Given the description of an element on the screen output the (x, y) to click on. 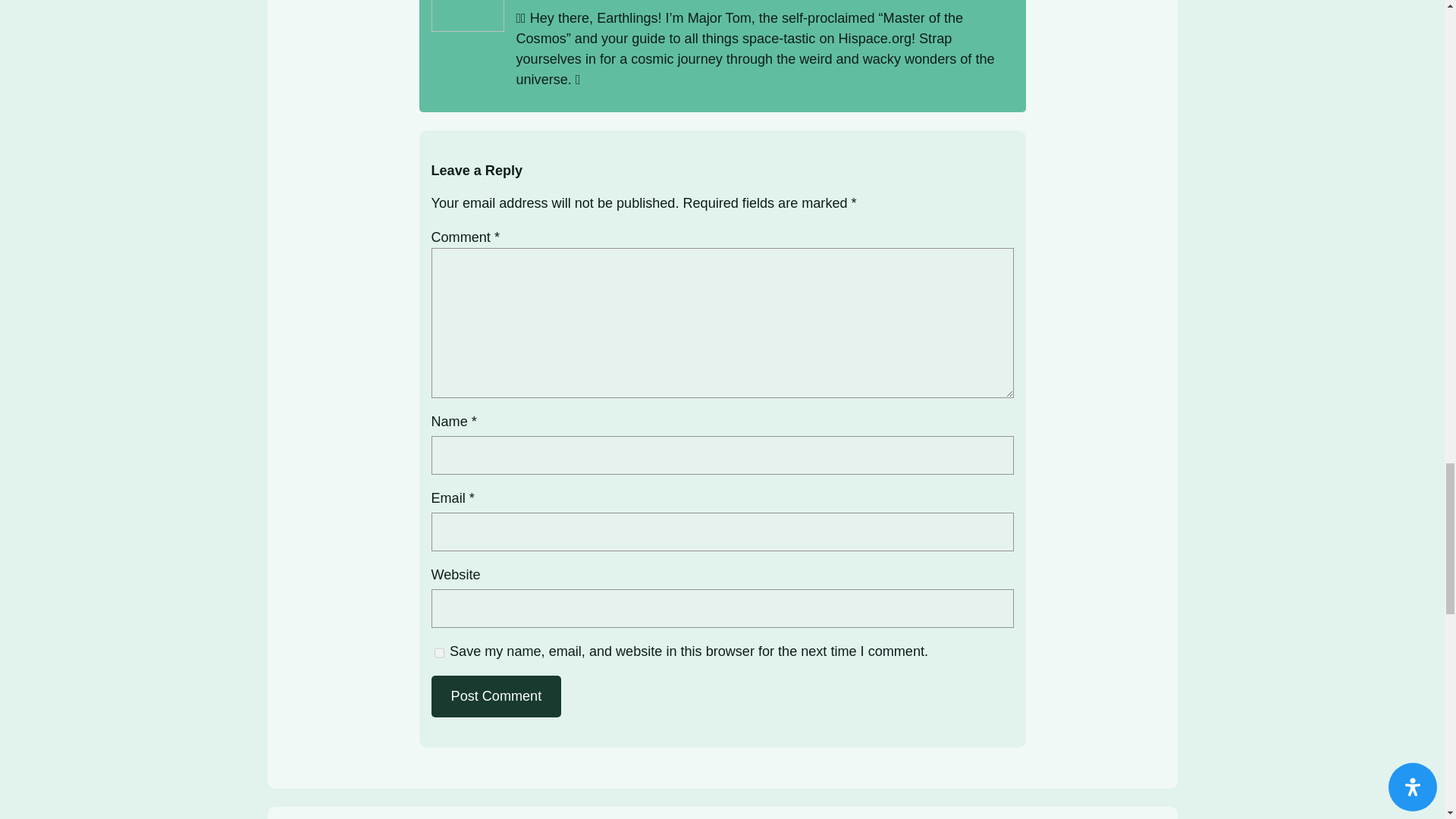
Post Comment (495, 696)
Post Comment (495, 696)
yes (438, 653)
